Given the description of an element on the screen output the (x, y) to click on. 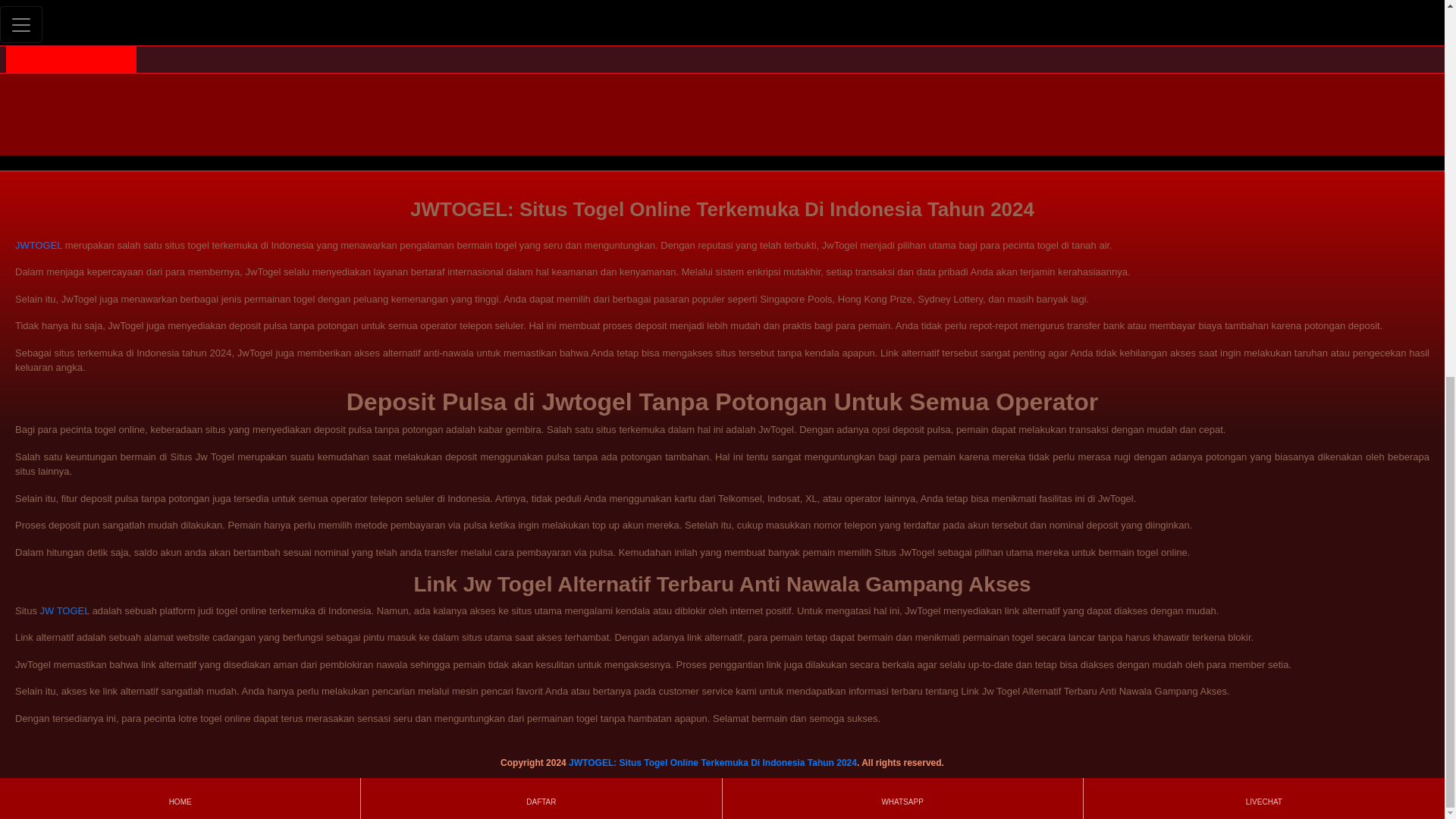
JWTOGEL (38, 244)
WHATSAPP (901, 103)
HOME (179, 103)
LIVECHAT (1263, 103)
DAFTAR (540, 103)
JW TOGEL (65, 610)
